Given the description of an element on the screen output the (x, y) to click on. 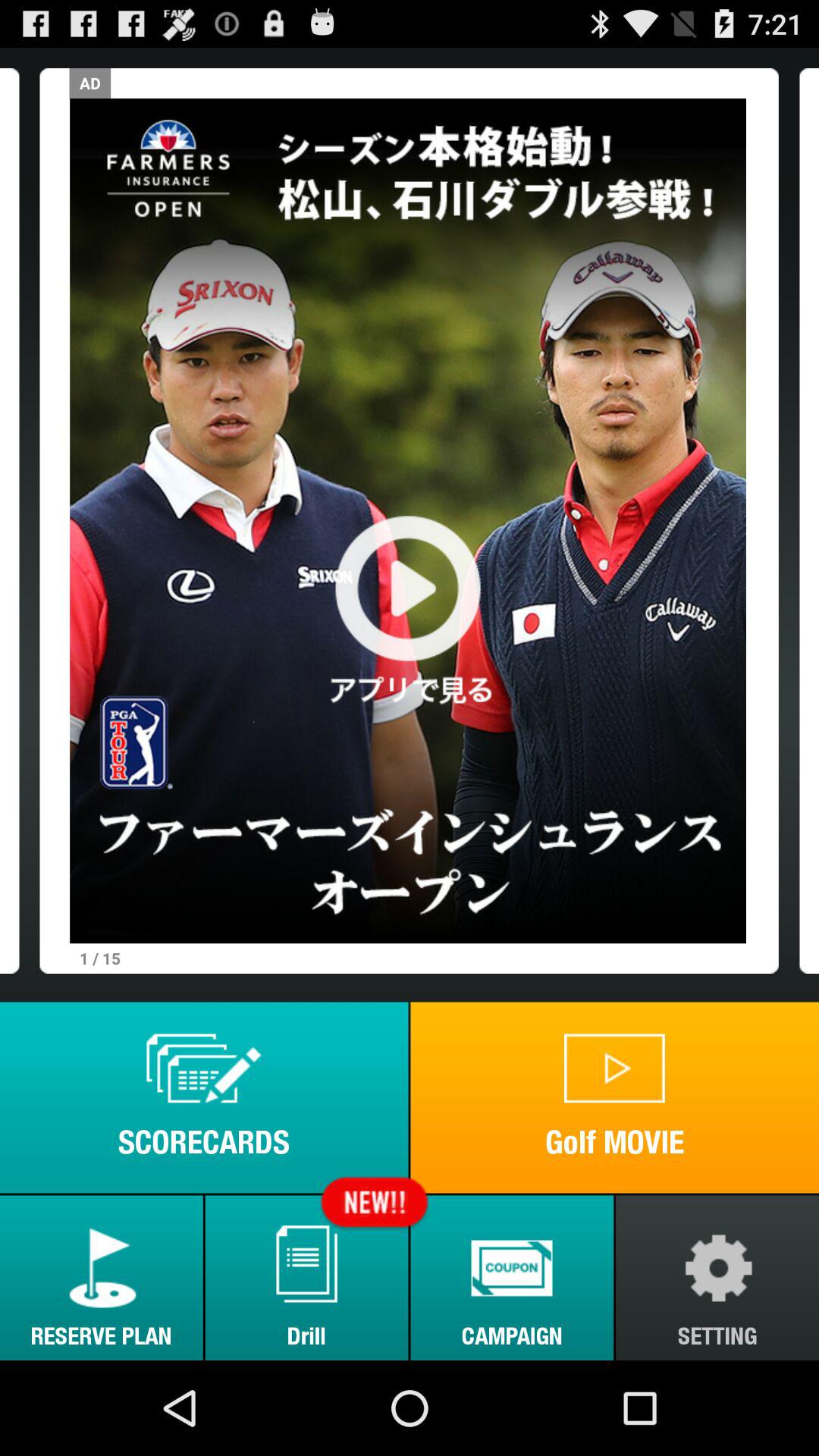
plat button (407, 520)
